Given the description of an element on the screen output the (x, y) to click on. 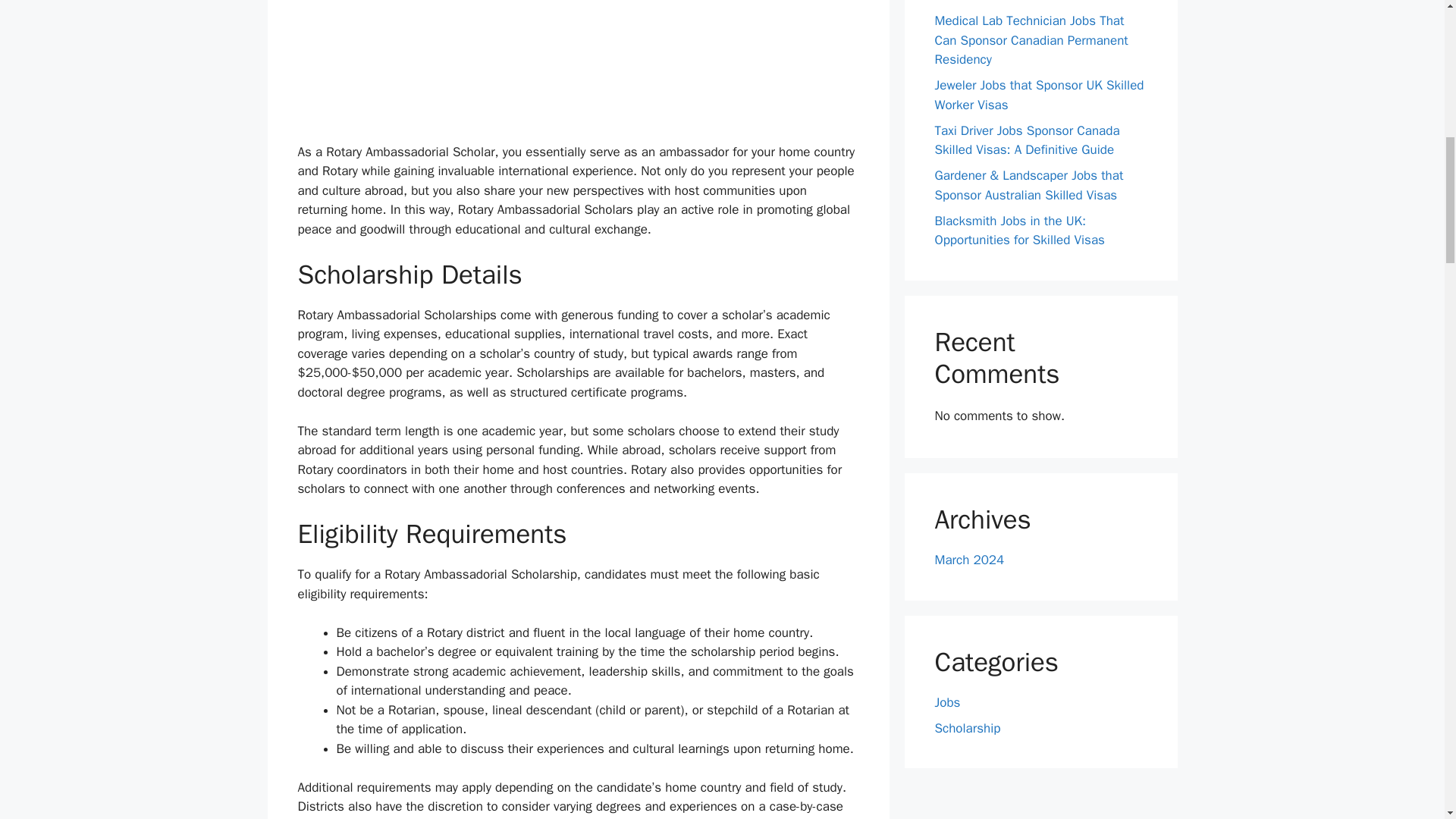
Jeweler Jobs that Sponsor UK Skilled Worker Visas (1038, 94)
Advertisement (578, 68)
Scholarship (967, 728)
Blacksmith Jobs in the UK: Opportunities for Skilled Visas (1018, 230)
Jobs (946, 702)
March 2024 (969, 560)
